Given the description of an element on the screen output the (x, y) to click on. 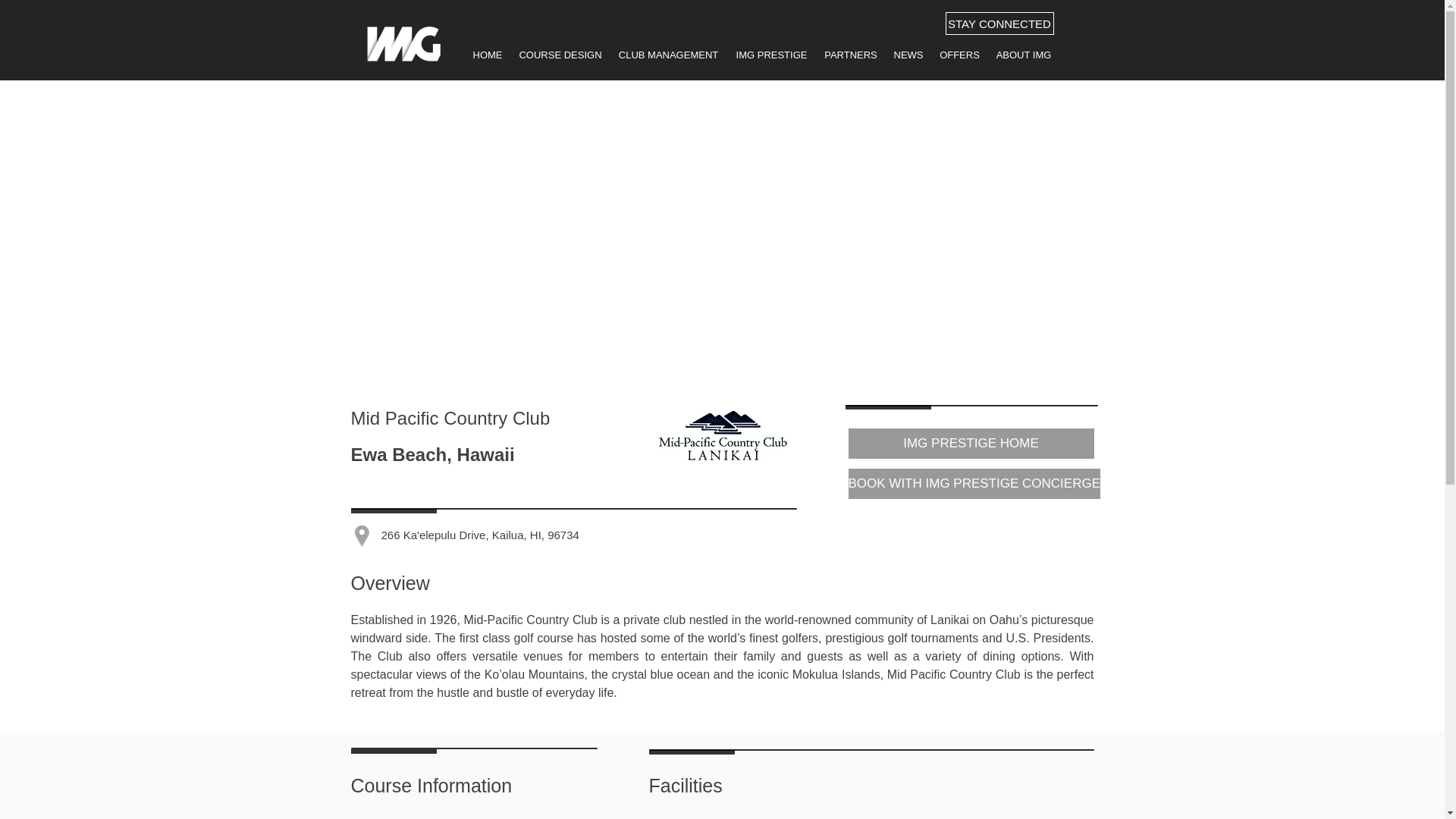
PARTNERS (850, 55)
IMG PRESTIGE (770, 55)
IMG PRESTIGE HOME (970, 443)
NEWS (908, 55)
ABOUT IMG (1023, 55)
COURSE DESIGN (560, 55)
STAY CONNECTED (998, 23)
CLUB MANAGEMENT (668, 55)
OFFERS (959, 55)
BOOK WITH IMG PRESTIGE CONCIERGE (973, 483)
